Given the description of an element on the screen output the (x, y) to click on. 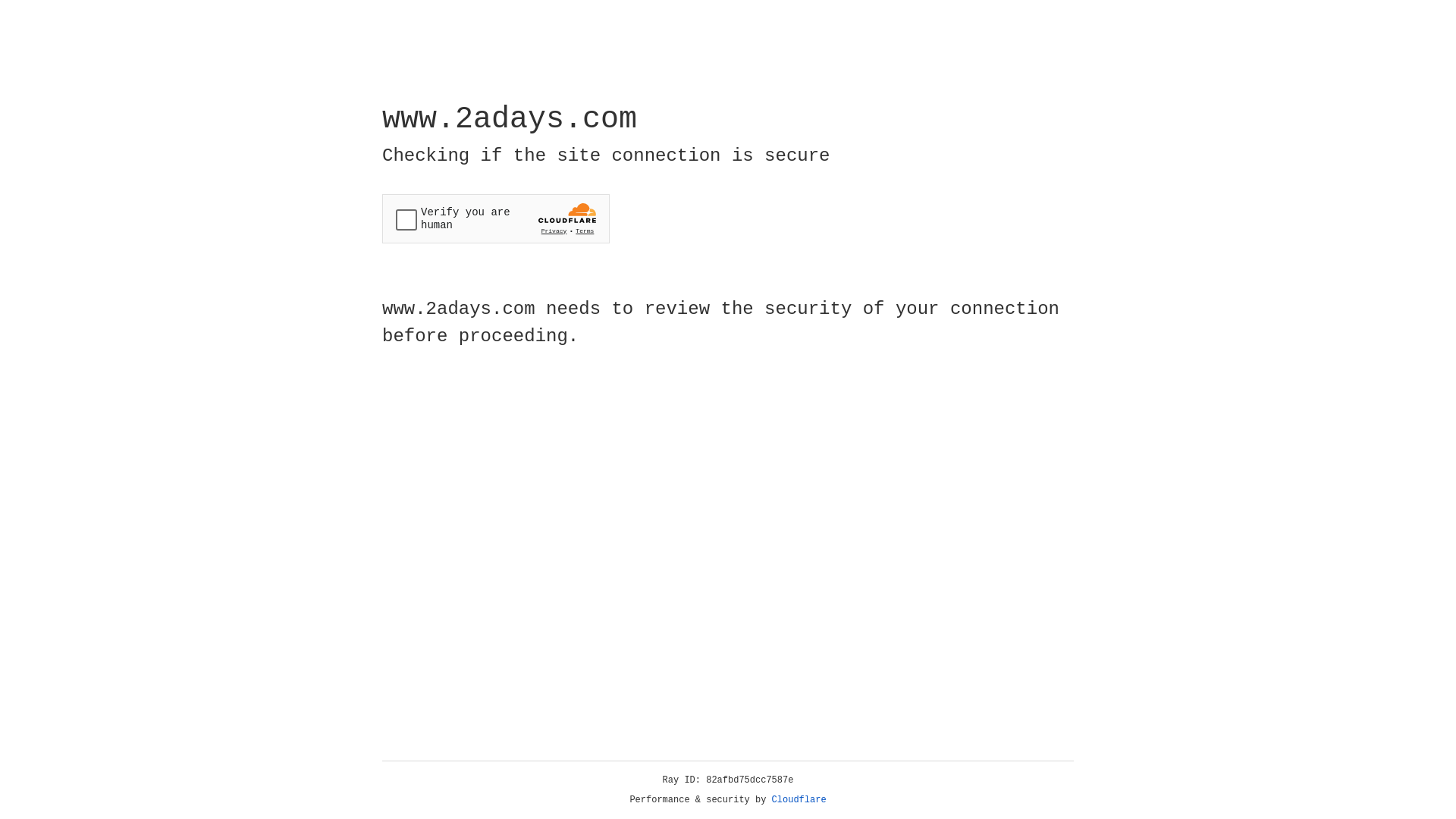
Cloudflare Element type: text (798, 799)
Widget containing a Cloudflare security challenge Element type: hover (495, 218)
